Given the description of an element on the screen output the (x, y) to click on. 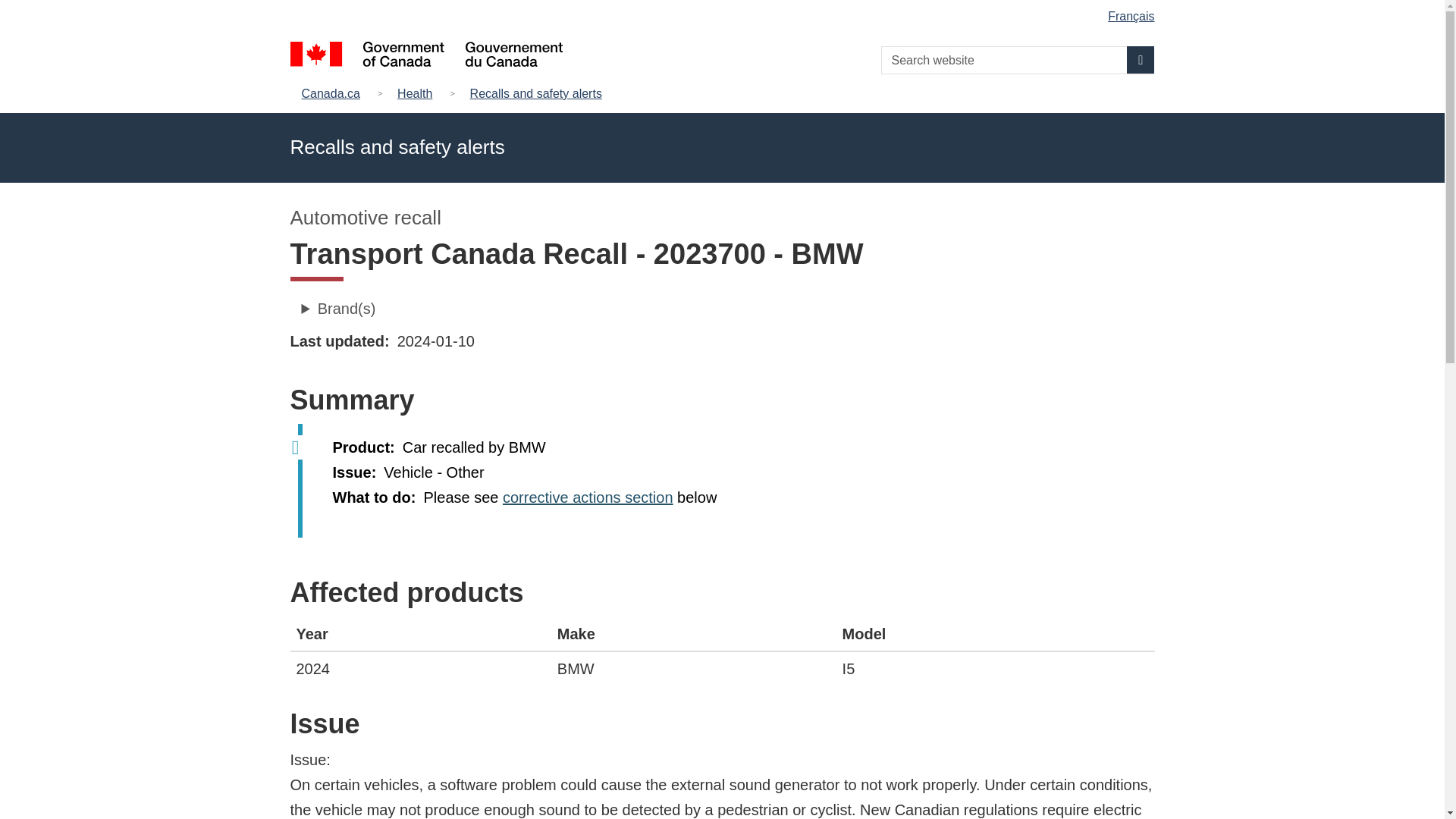
Skip to main content (725, 11)
corrective actions section (587, 497)
Canada.ca (334, 93)
Search (1140, 58)
Health (414, 93)
Search (1140, 58)
Recalls and safety alerts (536, 93)
